Given the description of an element on the screen output the (x, y) to click on. 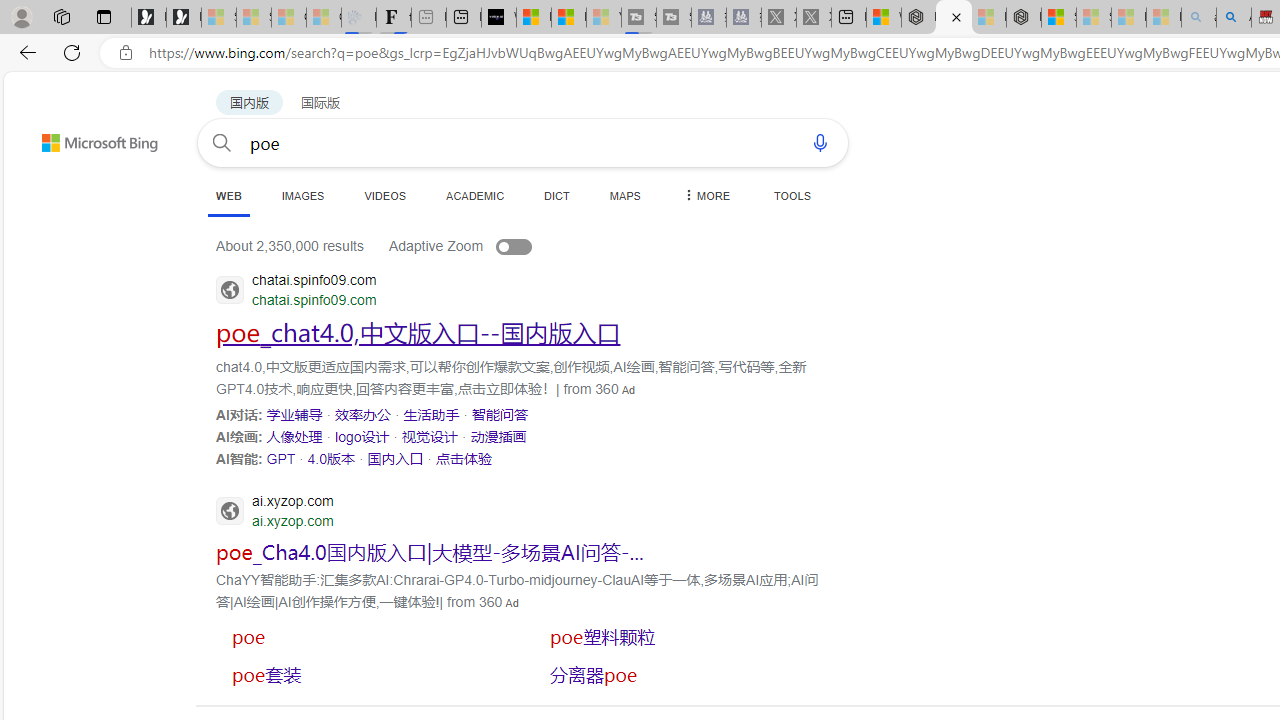
WEB (228, 195)
SERP,5581 (365, 636)
SERP,5564 (431, 414)
Tab actions menu (104, 16)
poe (360, 637)
TOOLS (792, 195)
SERP,5563 (363, 414)
SERP,5566 (294, 436)
SERP,5568 (429, 436)
SERP,5565 (499, 414)
MAPS (624, 195)
